Given the description of an element on the screen output the (x, y) to click on. 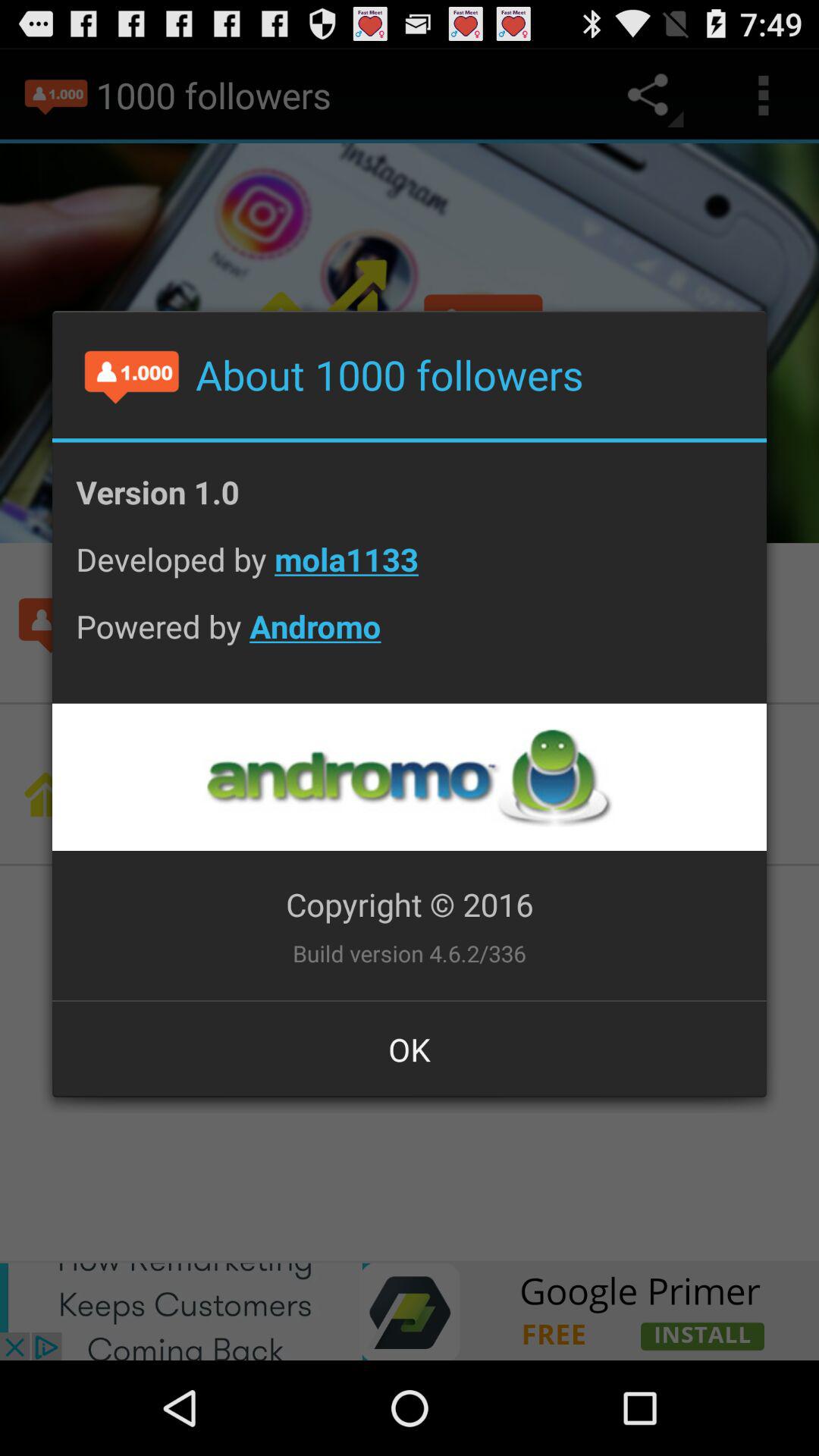
open developer 's site (408, 776)
